Given the description of an element on the screen output the (x, y) to click on. 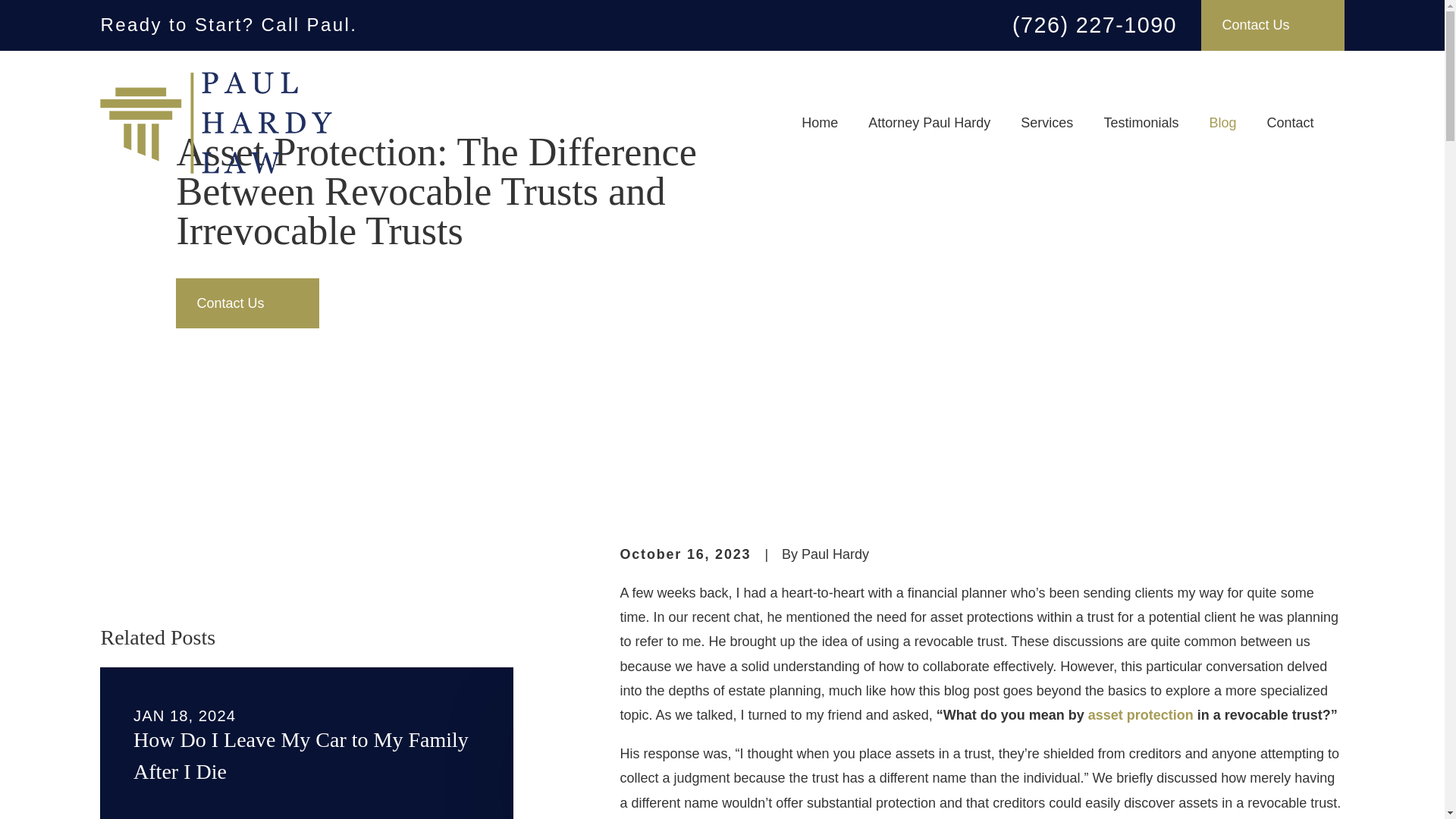
Testimonials (1140, 122)
Contact Us (1272, 25)
Attorney Paul Hardy (928, 122)
Home (215, 122)
Contact (1289, 122)
Services (1046, 122)
